Given the description of an element on the screen output the (x, y) to click on. 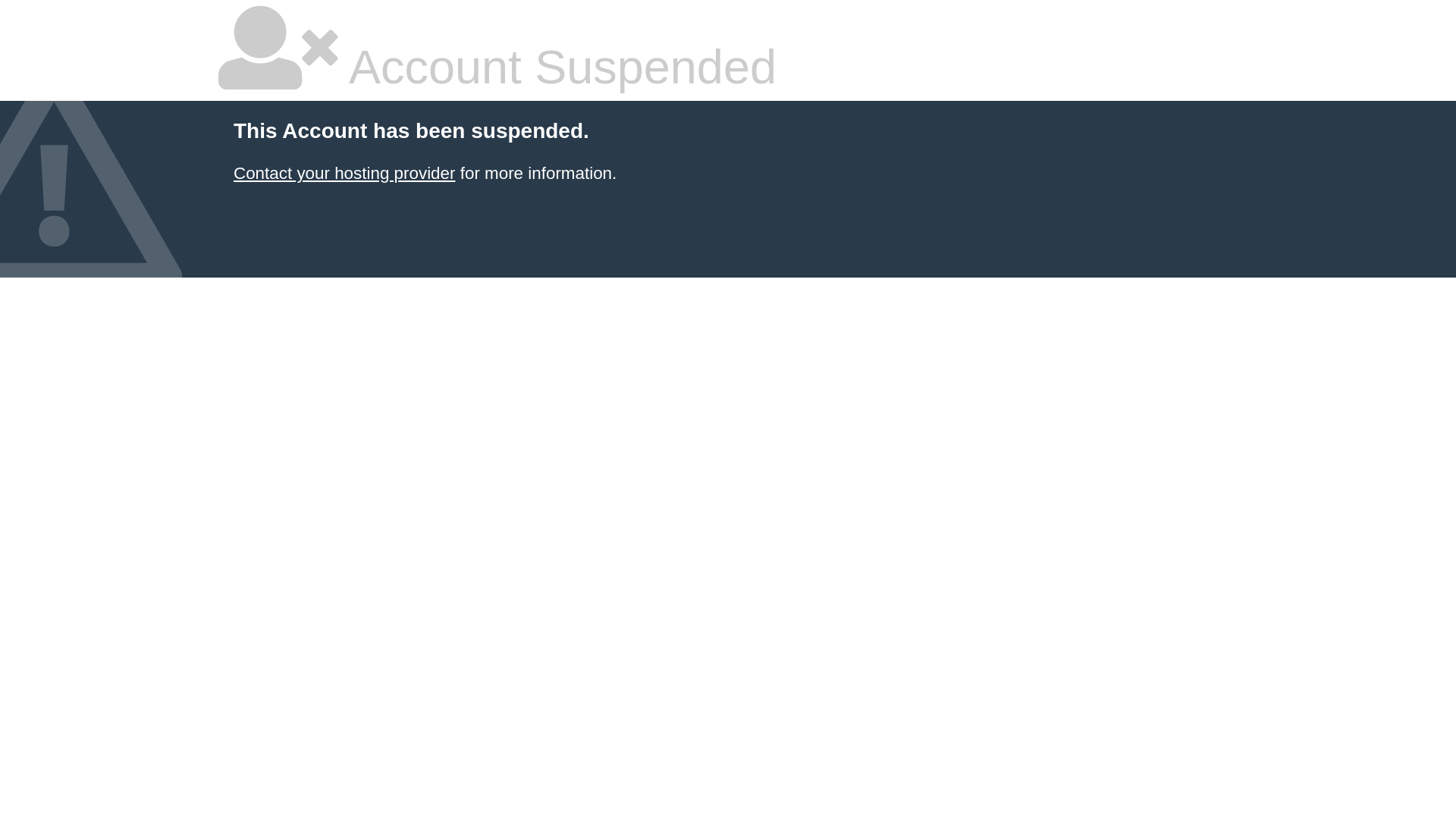
Contact your hosting provider Element type: text (344, 172)
